Given the description of an element on the screen output the (x, y) to click on. 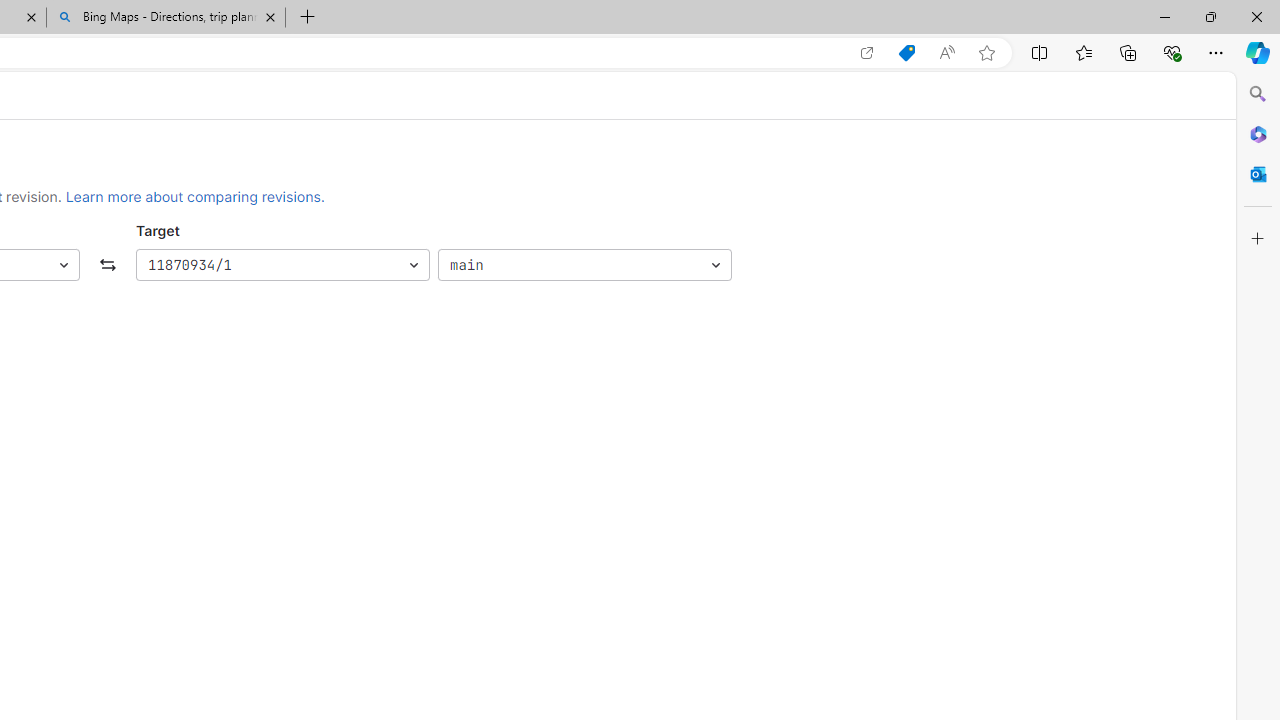
Learn more about comparing revisions. (195, 196)
11870934/1 (282, 265)
Swap (108, 265)
